Given the description of an element on the screen output the (x, y) to click on. 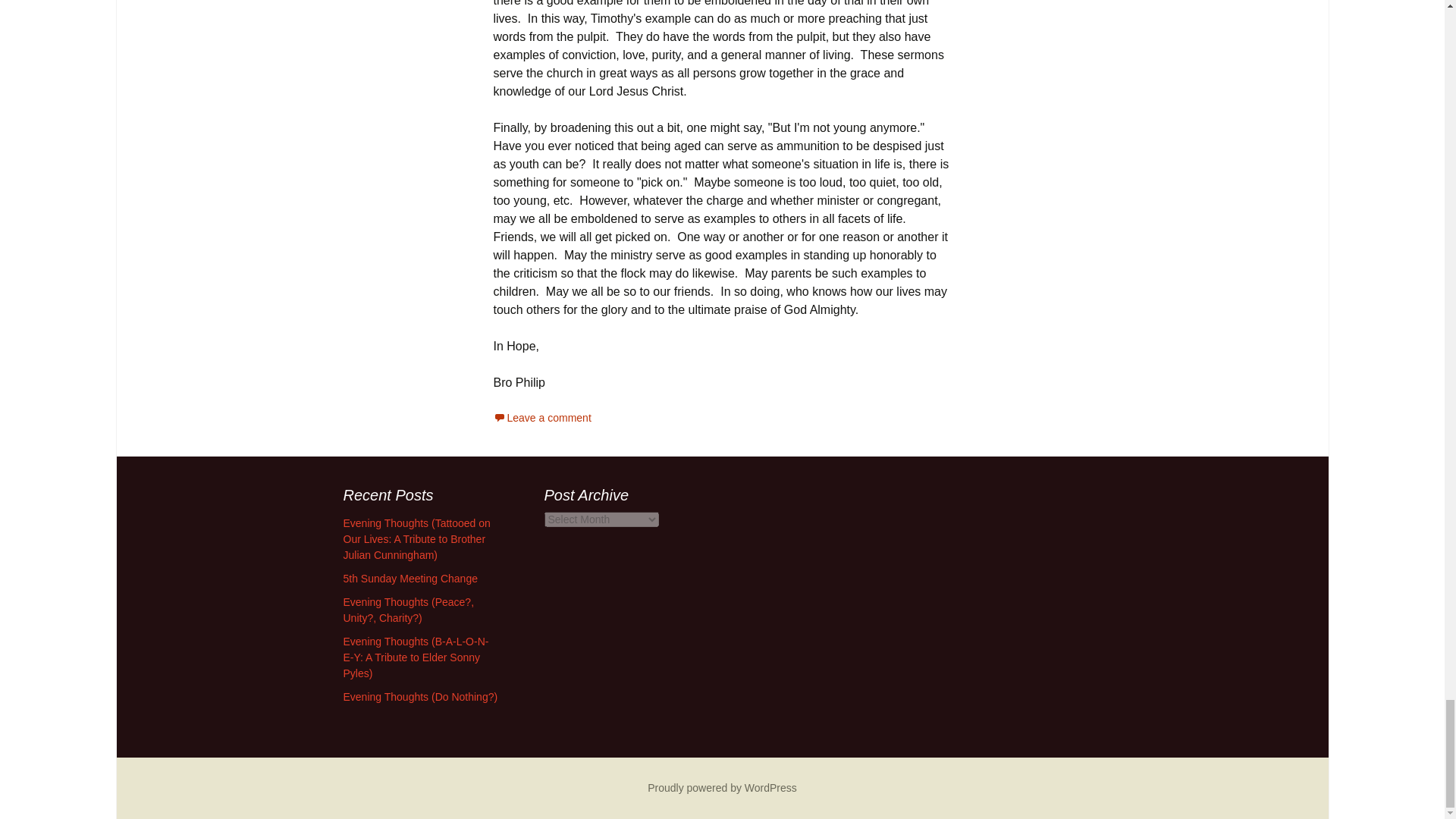
Proudly powered by WordPress (721, 787)
Leave a comment (542, 417)
5th Sunday Meeting Change (409, 578)
